Given the description of an element on the screen output the (x, y) to click on. 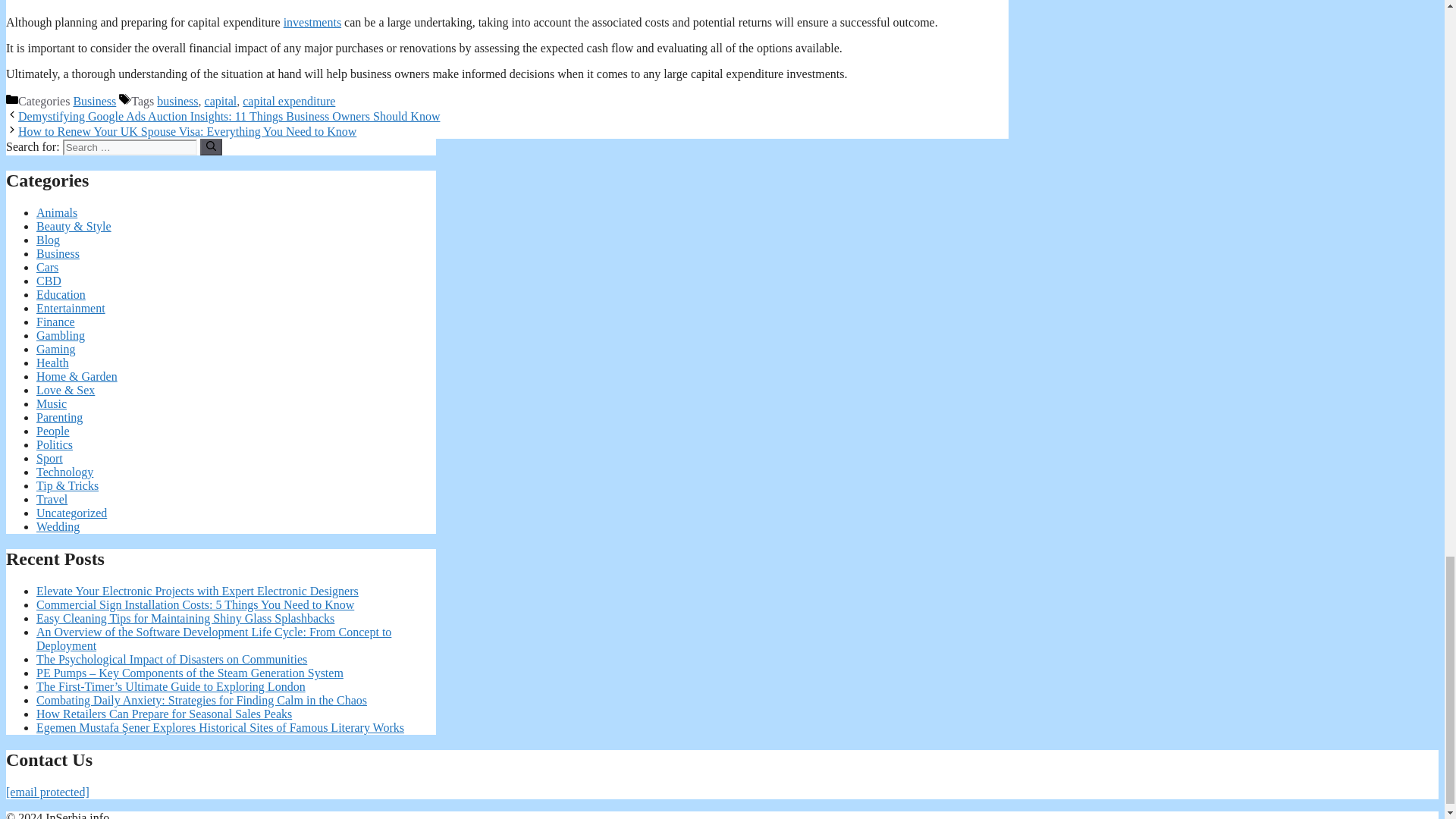
Business (94, 101)
Blog (47, 239)
capital (221, 101)
business (177, 101)
Business (58, 253)
Cars (47, 267)
Health (52, 362)
Education (60, 294)
Animals (56, 212)
Gambling (60, 335)
capital expenditure (288, 101)
CBD (48, 280)
Entertainment (70, 308)
investments (311, 21)
